Given the description of an element on the screen output the (x, y) to click on. 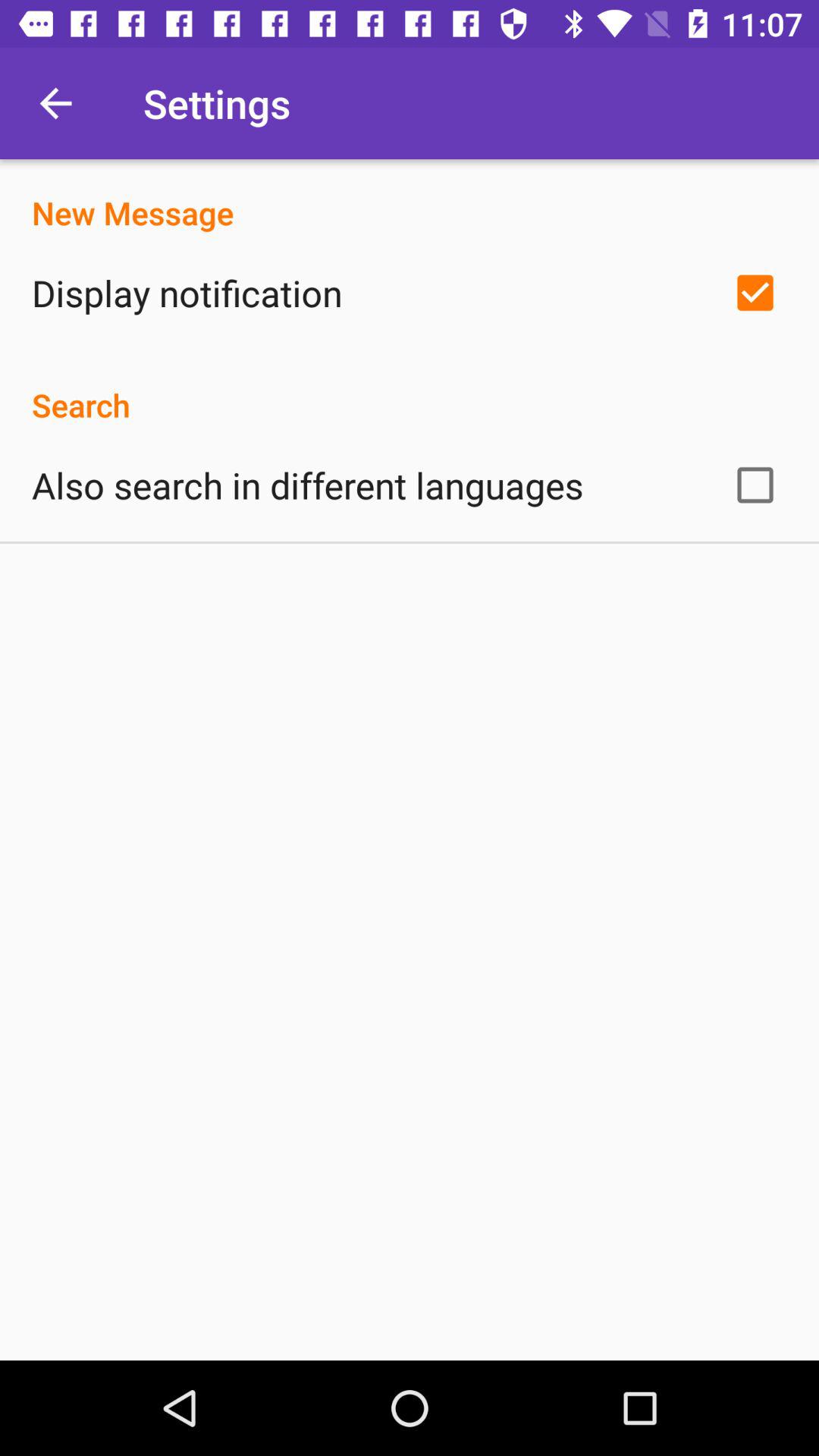
launch icon to the left of the settings icon (55, 103)
